Given the description of an element on the screen output the (x, y) to click on. 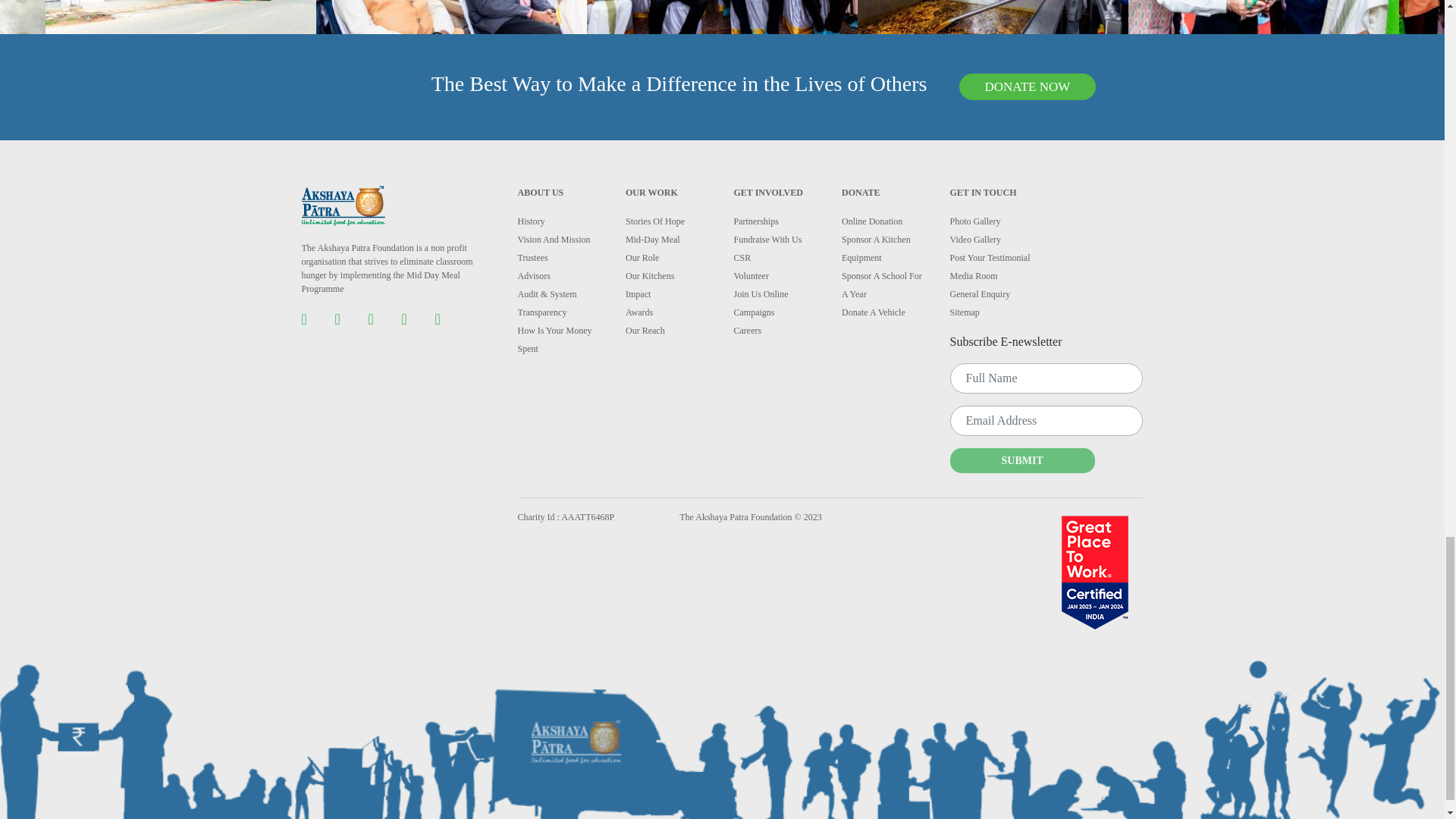
Special guests attend the ceremony (721, 17)
Guests take the tour of the kitchen to see its operations (992, 17)
Dignitaries listening to the inauguration speech (450, 17)
